Given the description of an element on the screen output the (x, y) to click on. 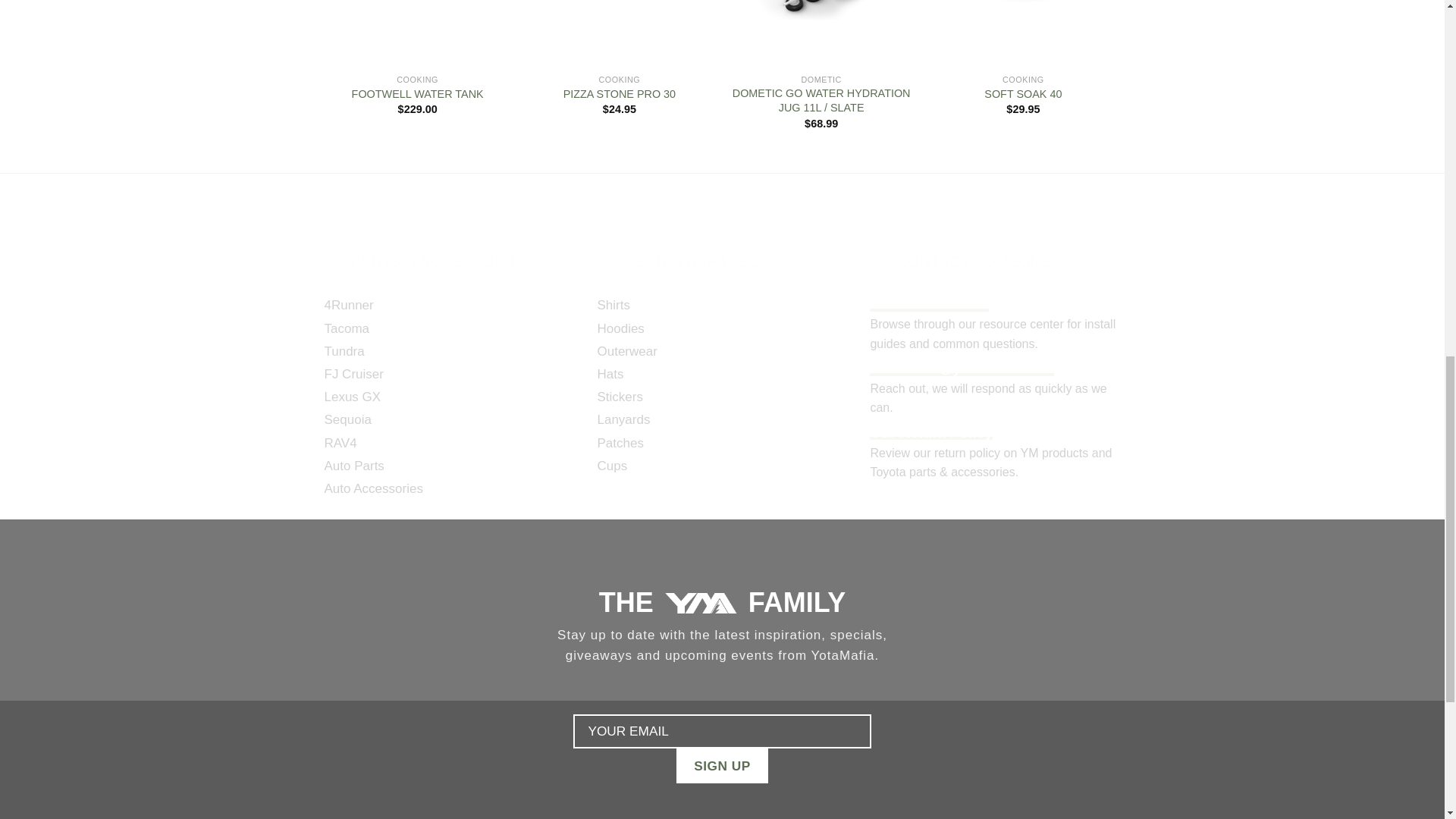
Sign Up (722, 765)
